Given the description of an element on the screen output the (x, y) to click on. 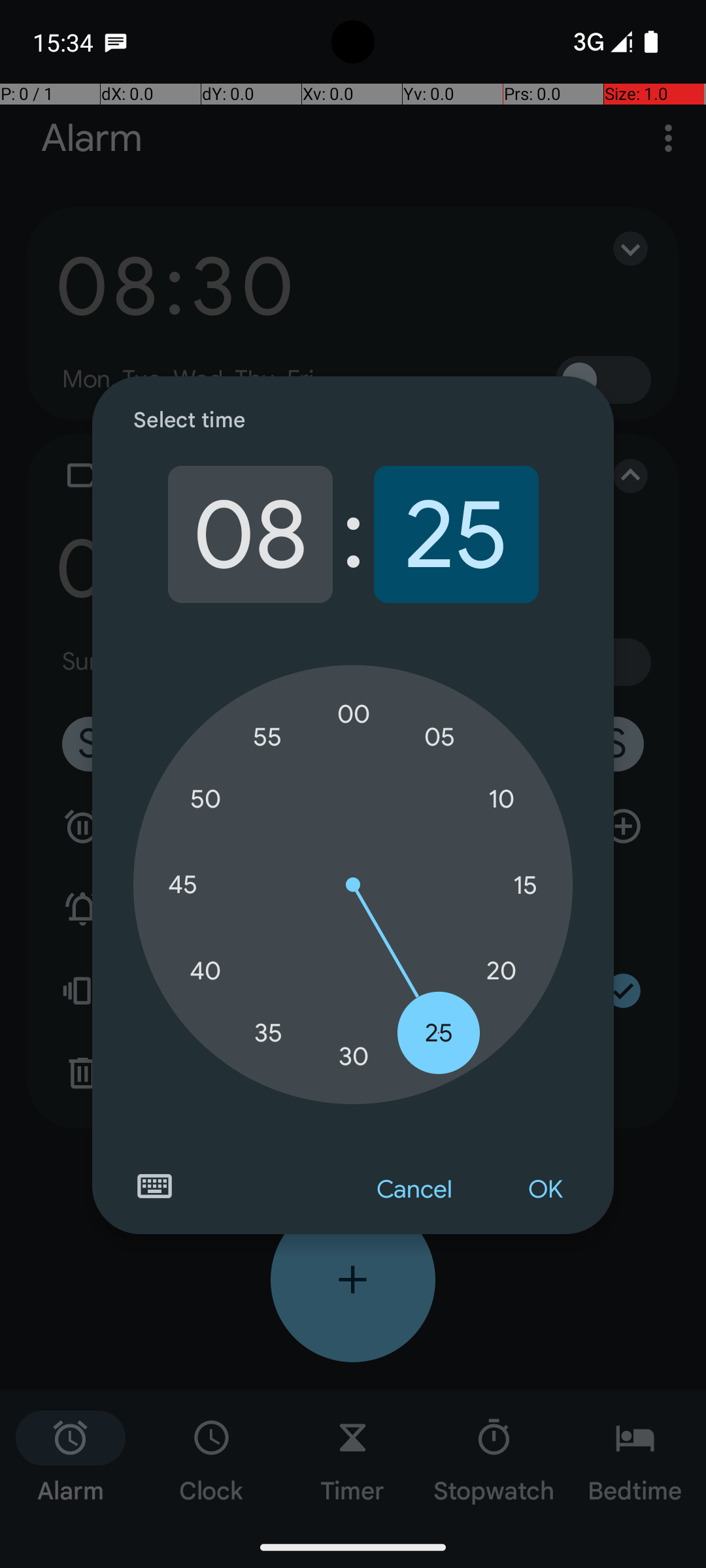
08 Element type: android.view.View (250, 534)
25 Element type: android.view.View (455, 534)
Switch to text input mode for the time input. Element type: android.widget.Button (154, 1186)
Cancel Element type: android.widget.Button (414, 1189)
OK Element type: android.widget.Button (545, 1189)
55 Element type: android.widget.TextView (267, 736)
00 Element type: android.widget.TextView (353, 713)
50 Element type: android.widget.TextView (205, 798)
05 Element type: android.widget.TextView (439, 736)
10 Element type: android.widget.TextView (501, 798)
45 Element type: android.widget.TextView (182, 884)
15 Element type: android.widget.TextView (524, 885)
40 Element type: android.widget.TextView (205, 970)
35 Element type: android.widget.TextView (267, 1032)
30 Element type: android.widget.TextView (353, 1056)
20 Element type: android.widget.TextView (501, 970)
SMS Messenger notification: Petar Gonzalez Element type: android.widget.ImageView (115, 41)
